Given the description of an element on the screen output the (x, y) to click on. 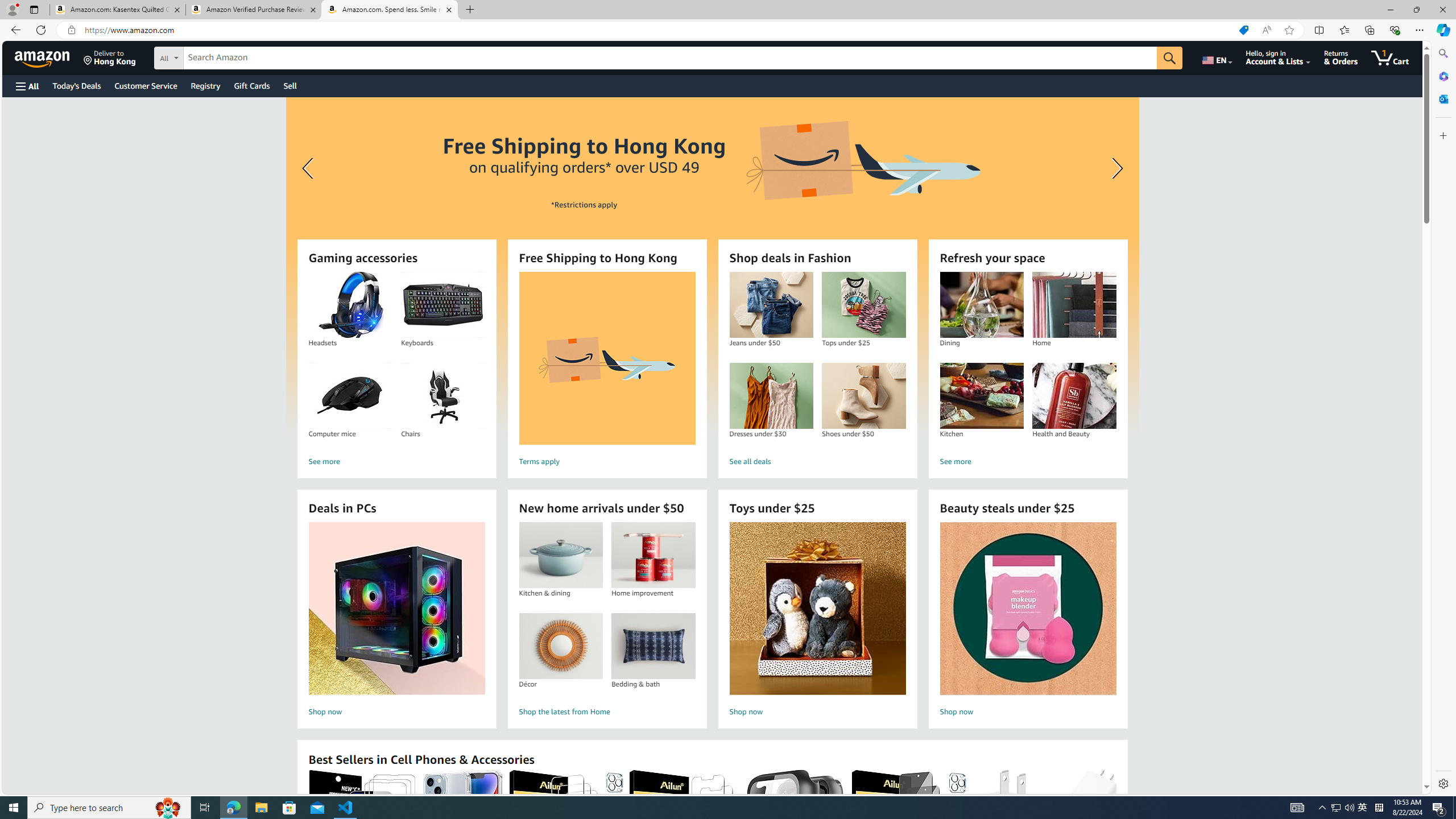
Bedding & bath (652, 645)
Keyboards (442, 304)
Toys under $25 Shop now (817, 620)
Search in (210, 56)
Gift Cards (251, 85)
Headsets (350, 304)
Previous slide (309, 168)
Dining (981, 304)
Outlook (1442, 98)
Deals in PCs (395, 608)
